Given the description of an element on the screen output the (x, y) to click on. 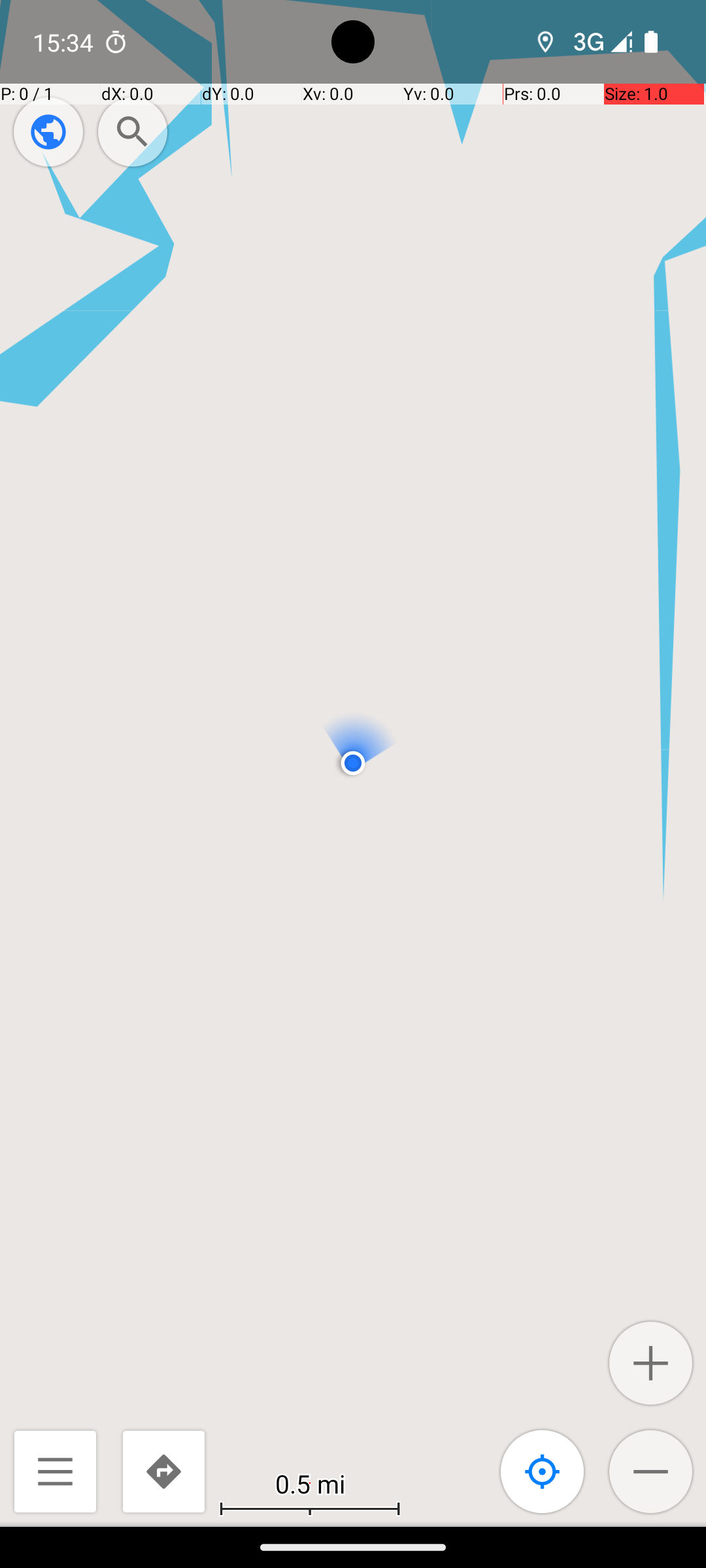
0.5 mi Element type: android.widget.TextView (309, 1483)
Map linked to location Element type: android.widget.ImageButton (542, 1471)
